Given the description of an element on the screen output the (x, y) to click on. 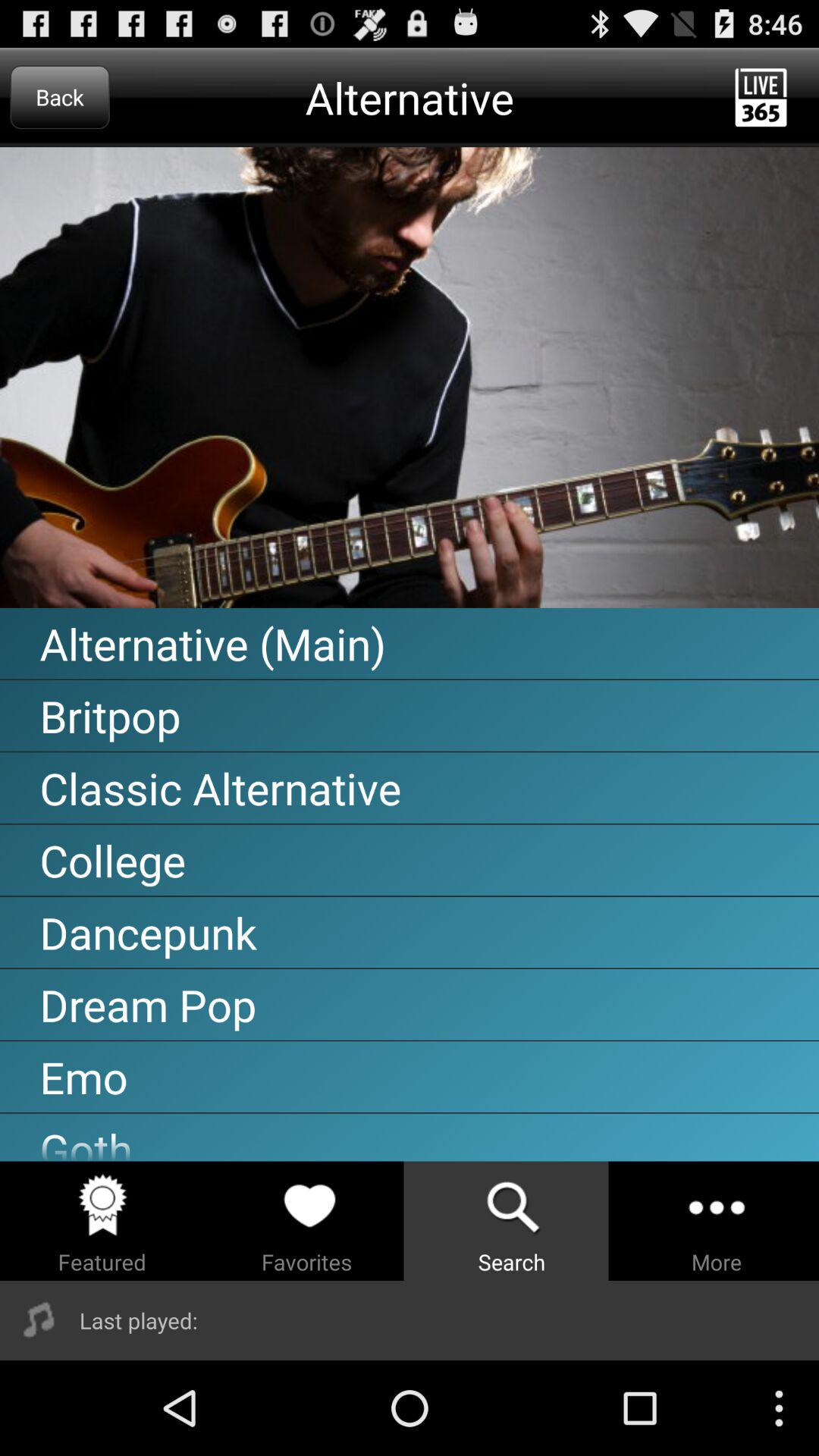
open icon above the alternative (main) icon (409, 377)
